Given the description of an element on the screen output the (x, y) to click on. 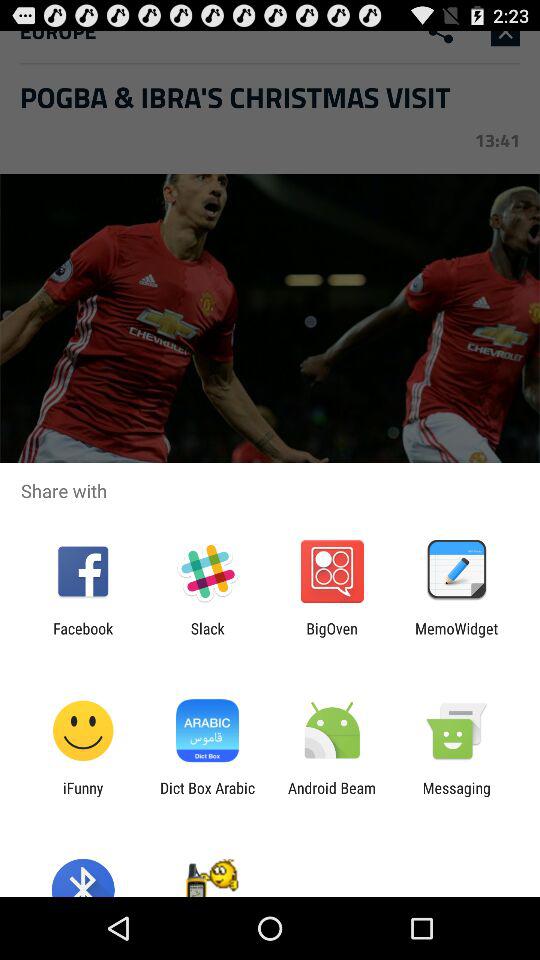
scroll to the dict box arabic (207, 796)
